Given the description of an element on the screen output the (x, y) to click on. 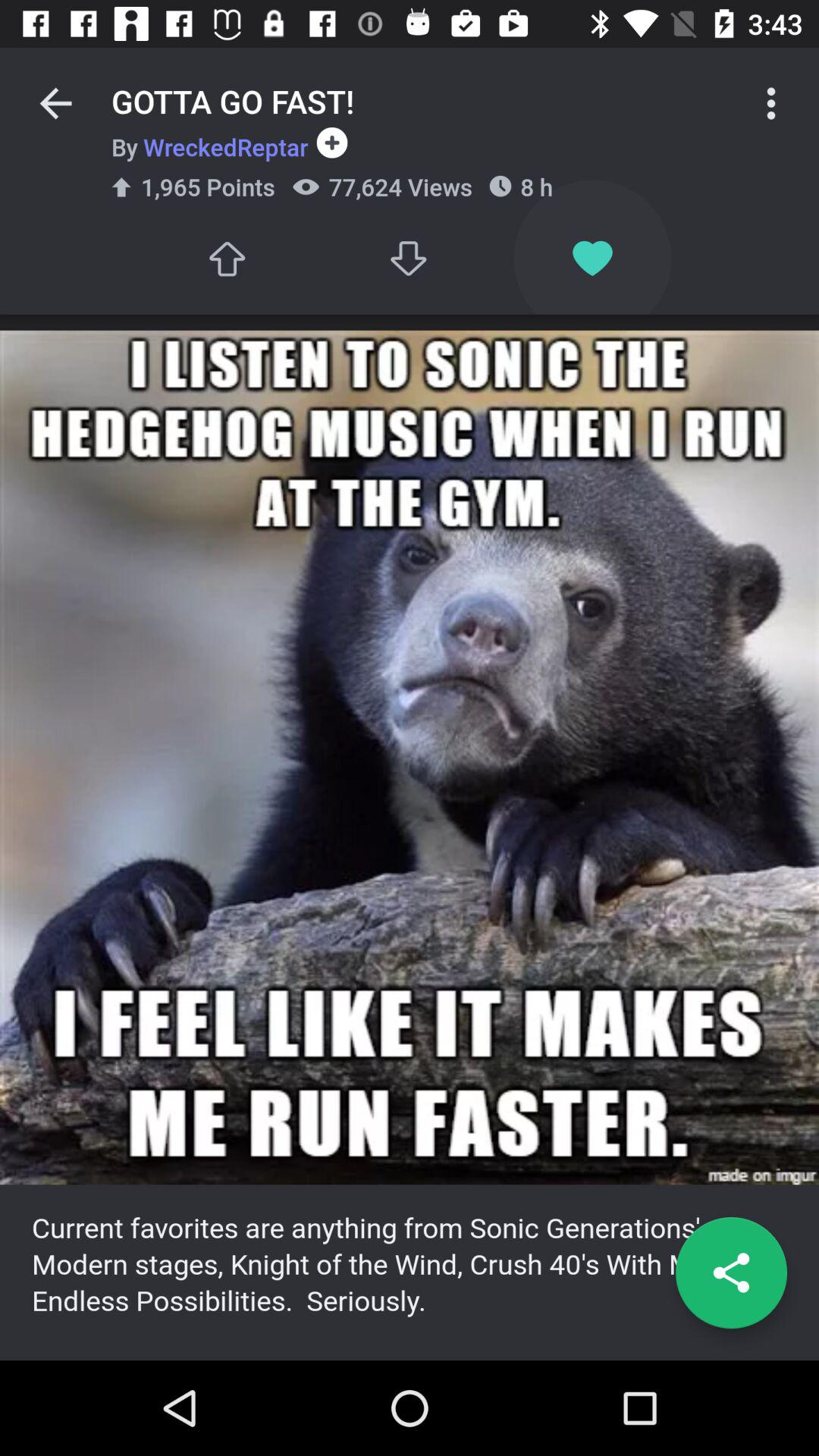
turn off item to the left of 8 h icon (409, 258)
